Given the description of an element on the screen output the (x, y) to click on. 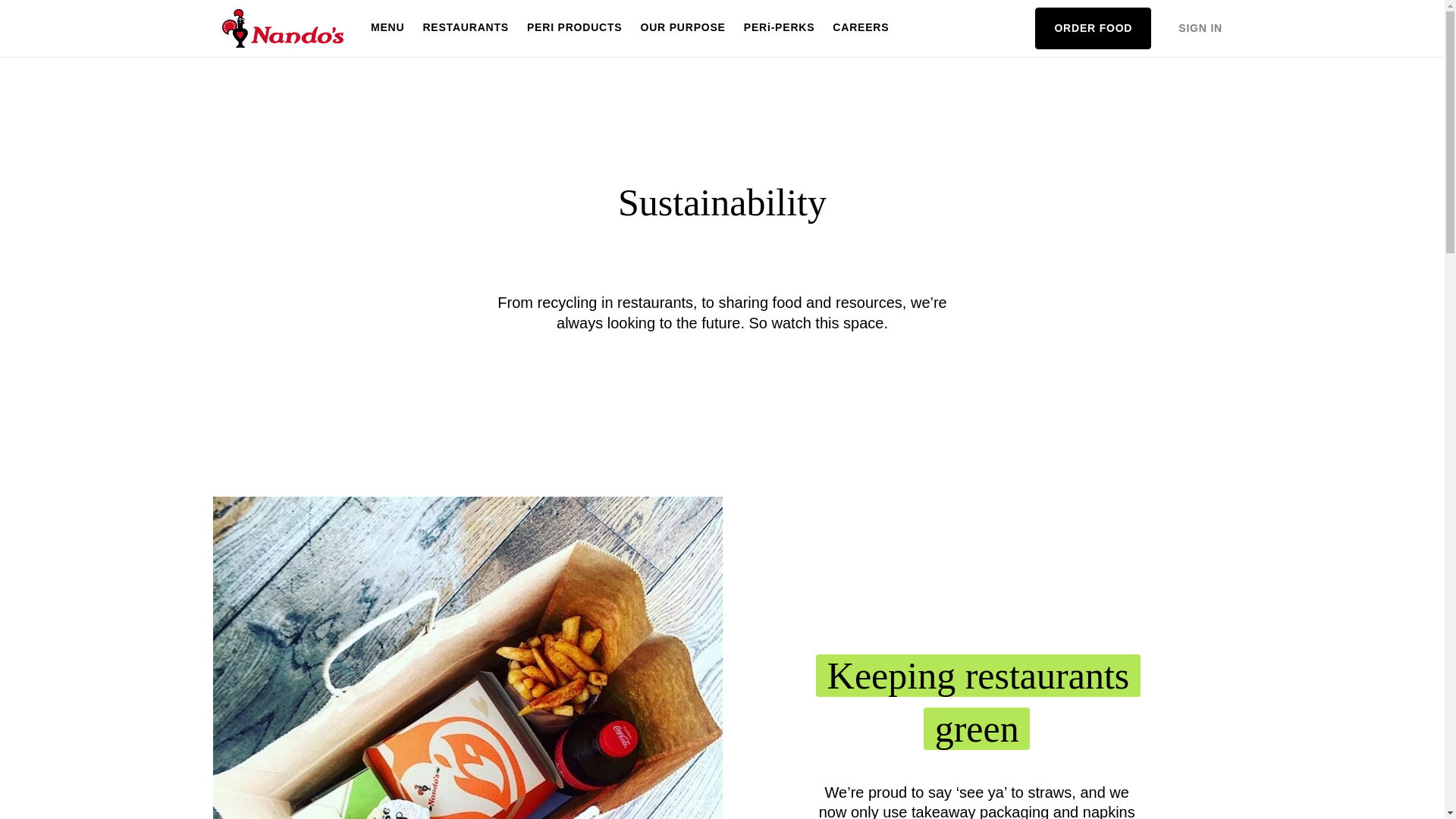
SIGN IN (1200, 28)
PERi-PERKS (779, 28)
MENU (387, 28)
ORDER FOOD (1093, 28)
RESTAURANTS (465, 28)
OUR PURPOSE (681, 28)
CAREERS (861, 28)
PERI PRODUCTS (574, 28)
